Given the description of an element on the screen output the (x, y) to click on. 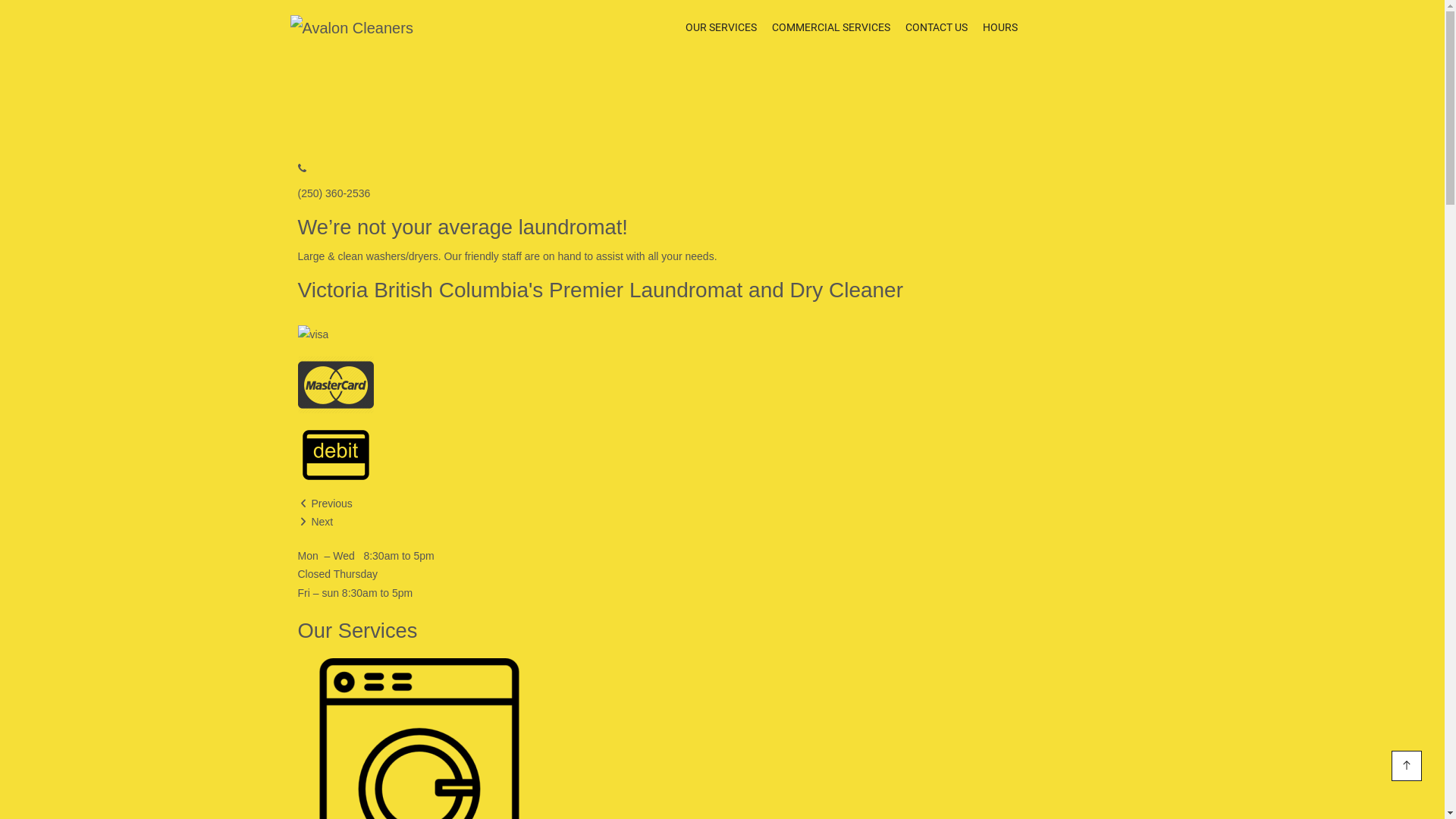
OUR SERVICES Element type: text (720, 27)
COMMERCIAL SERVICES Element type: text (830, 27)
Avalon Cleaners Element type: hover (350, 28)
CONTACT US Element type: text (936, 27)
HOURS Element type: text (1000, 27)
